Given the description of an element on the screen output the (x, y) to click on. 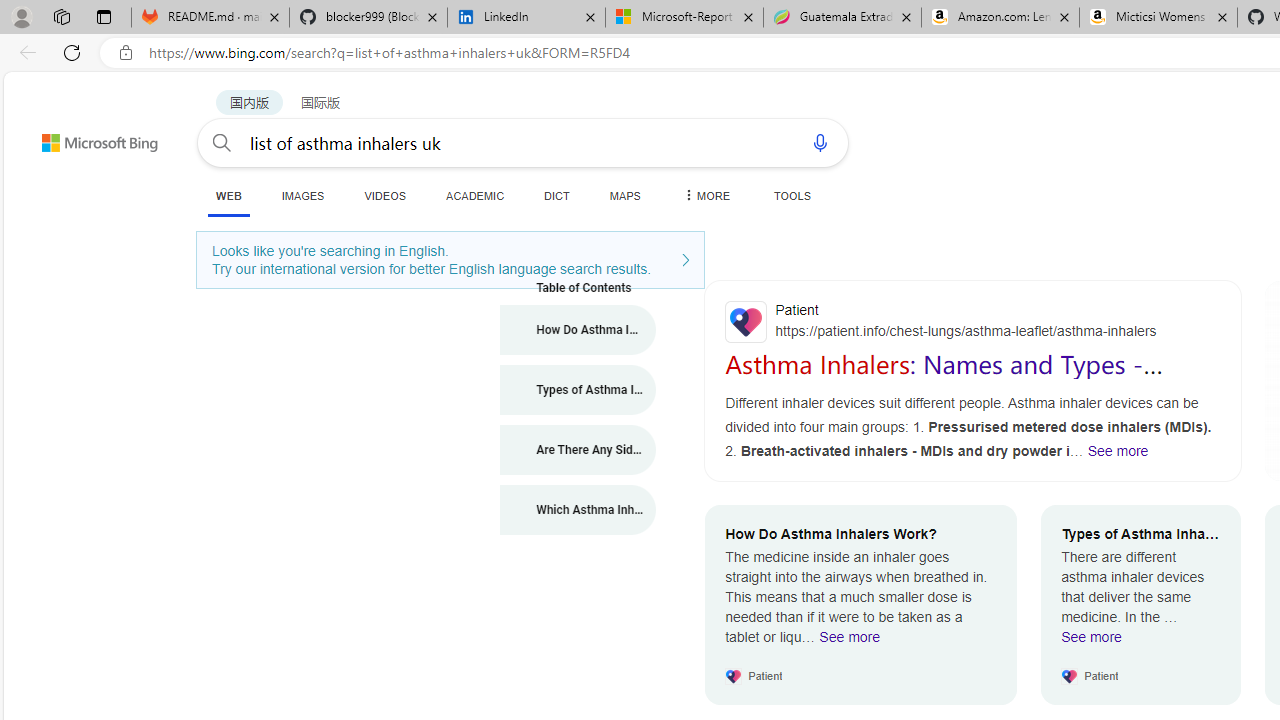
MAPS (624, 195)
TOOLS (792, 195)
Back to Bing search (87, 138)
TOOLS (792, 195)
WEB (228, 195)
Types of Asthma Inhalers (578, 389)
Patient (973, 321)
